Given the description of an element on the screen output the (x, y) to click on. 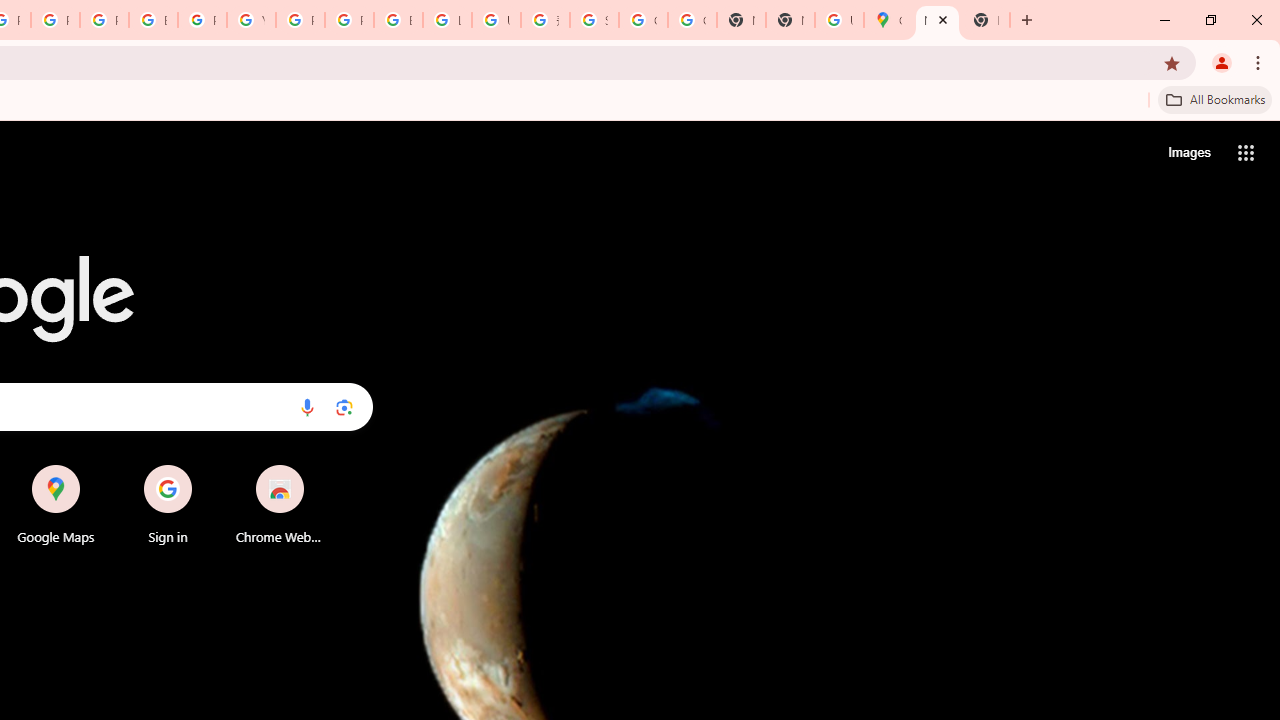
Privacy Help Center - Policies Help (104, 20)
Privacy Help Center - Policies Help (55, 20)
